Given the description of an element on the screen output the (x, y) to click on. 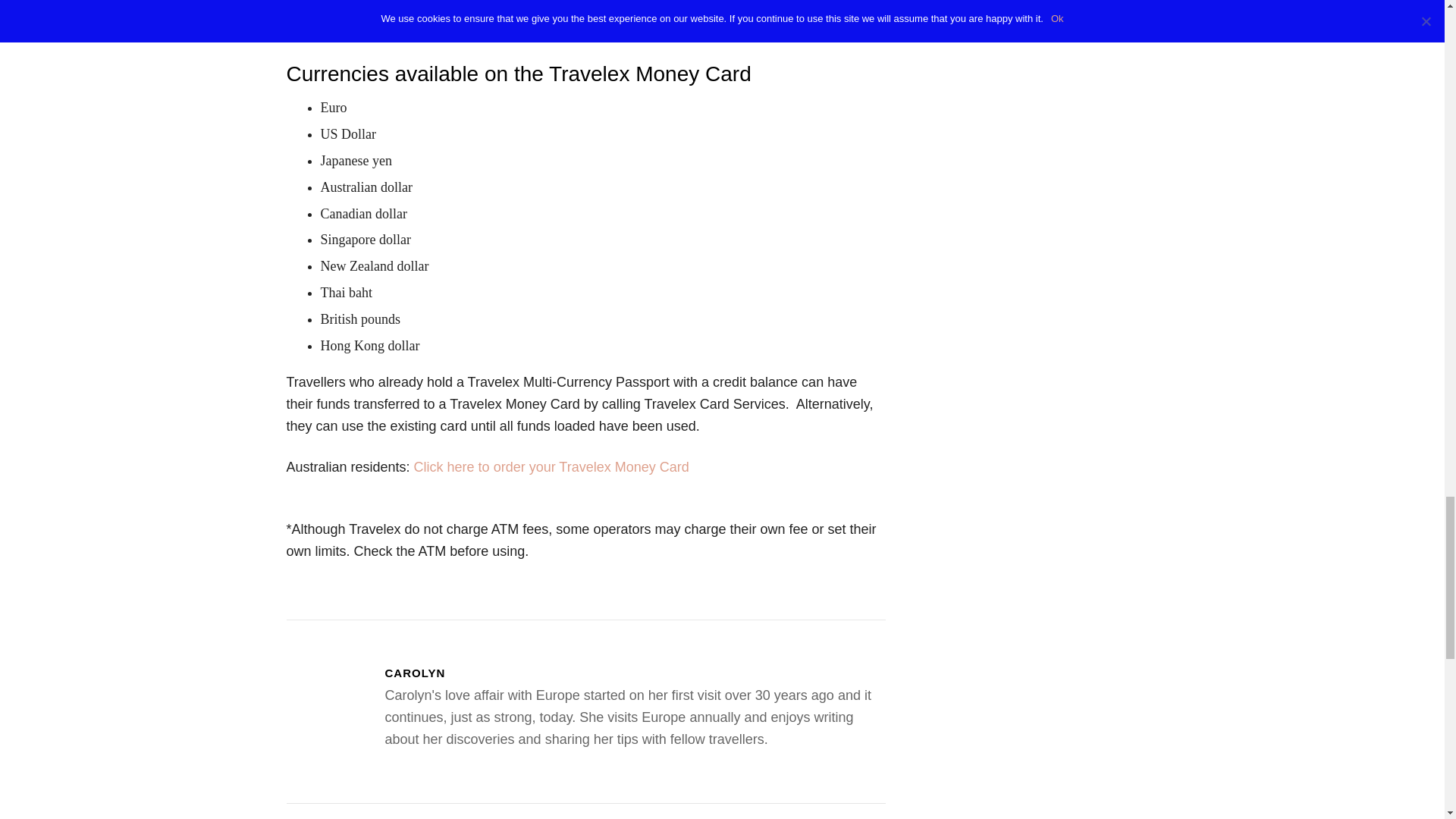
Travelex Money Card for Australian residents (550, 467)
